Given the description of an element on the screen output the (x, y) to click on. 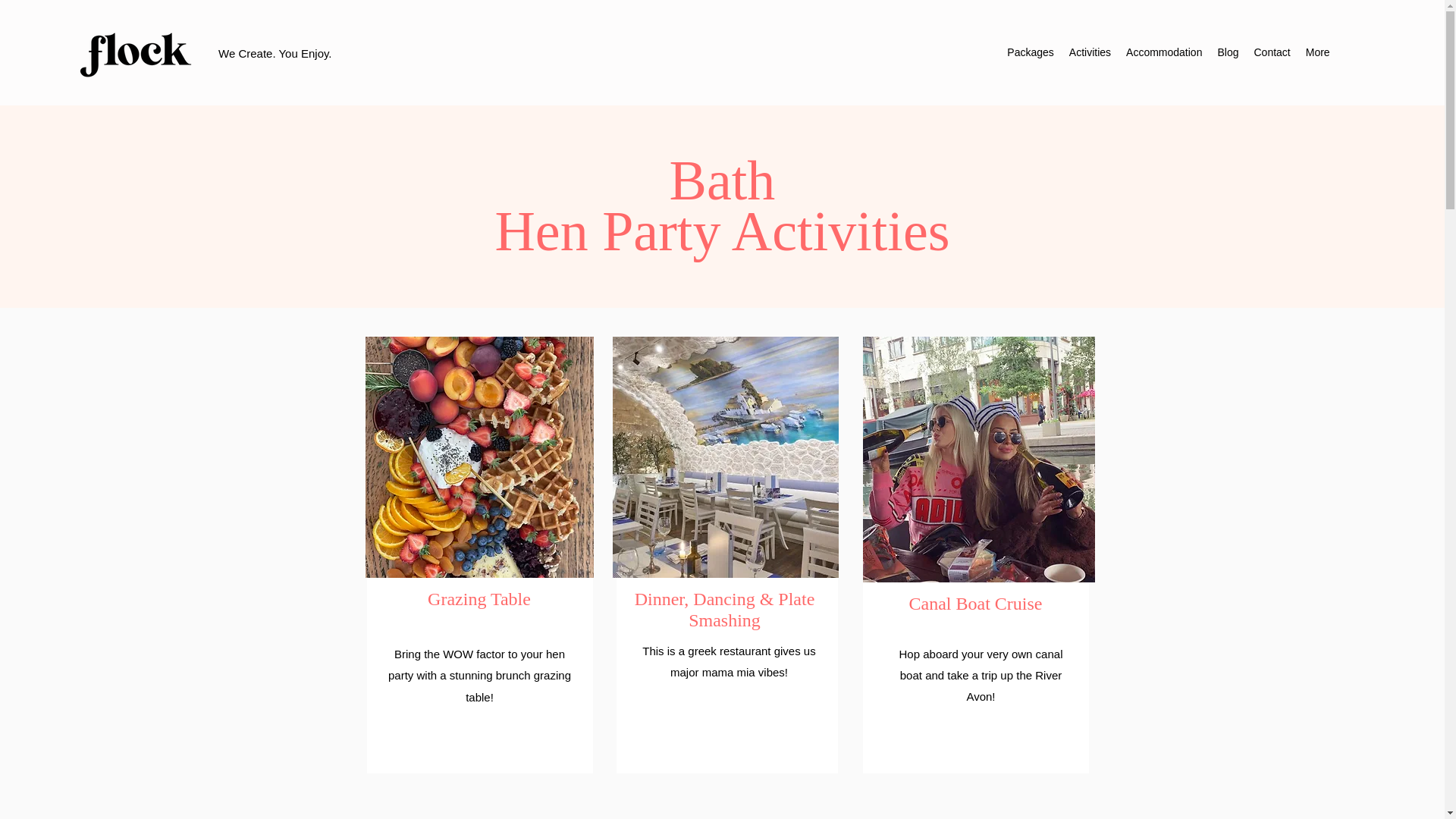
THRILL SEEKER ARCH.jpg (479, 457)
Activities (1089, 54)
Blog (1227, 54)
Accommodation (1163, 54)
Contact (1271, 54)
Packages (1029, 54)
FOODIE ARCH.jpg (978, 459)
CULTURE ARCH.jpg (725, 457)
